Given the description of an element on the screen output the (x, y) to click on. 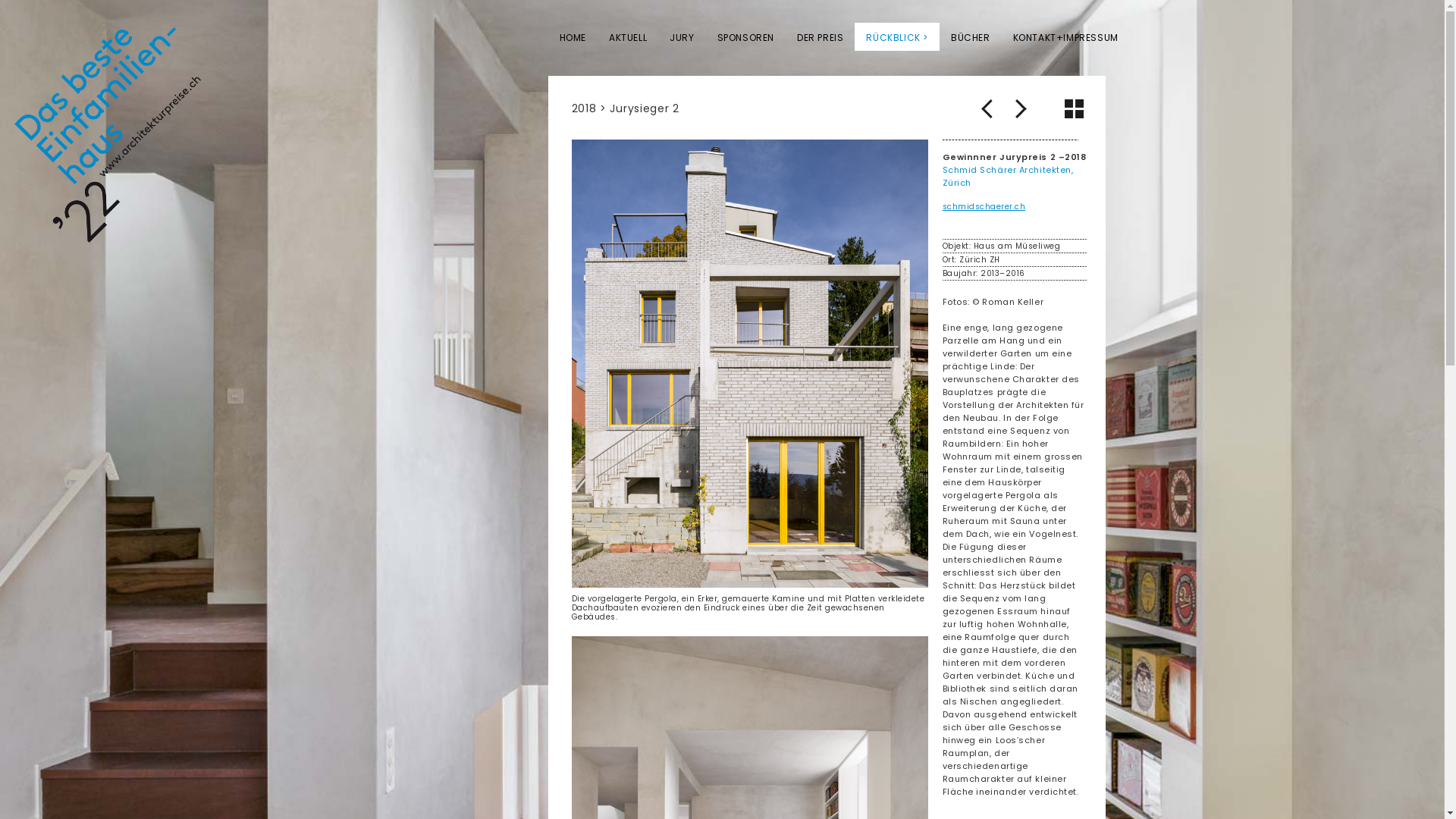
DER PREIS Element type: text (819, 36)
SPONSOREN Element type: text (745, 36)
HOME Element type: text (571, 36)
JURY Element type: text (681, 36)
AKTUELL Element type: text (627, 36)
KONTAKT+IMPRESSUM Element type: text (1065, 36)
schmidschaerer.ch Element type: text (983, 206)
